Given the description of an element on the screen output the (x, y) to click on. 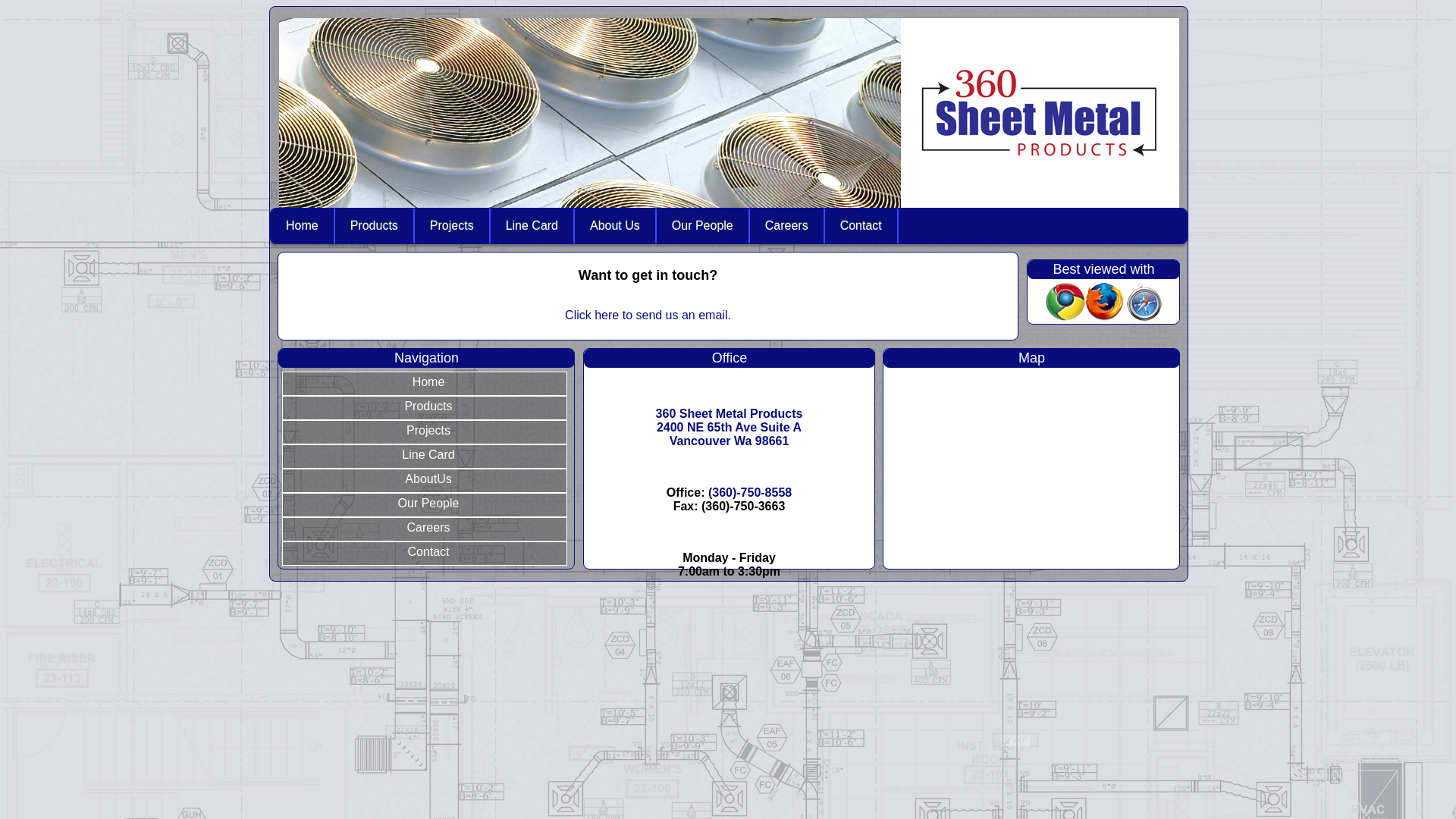
Careers Element type: text (786, 225)
Line Card Element type: text (424, 456)
Click here to send us an email. Element type: text (647, 314)
Projects Element type: text (451, 225)
(360)-750-8558 Element type: text (749, 492)
Projects Element type: text (424, 431)
About Us Element type: text (614, 225)
Products Element type: text (374, 225)
Our People Element type: text (424, 504)
Home Element type: text (302, 225)
Contact Element type: text (861, 225)
Home Element type: text (424, 383)
Careers Element type: text (424, 528)
AboutUs Element type: text (424, 480)
Line Card Element type: text (532, 225)
Our People Element type: text (702, 225)
Contact Element type: text (424, 553)
Products Element type: text (424, 407)
